Given the description of an element on the screen output the (x, y) to click on. 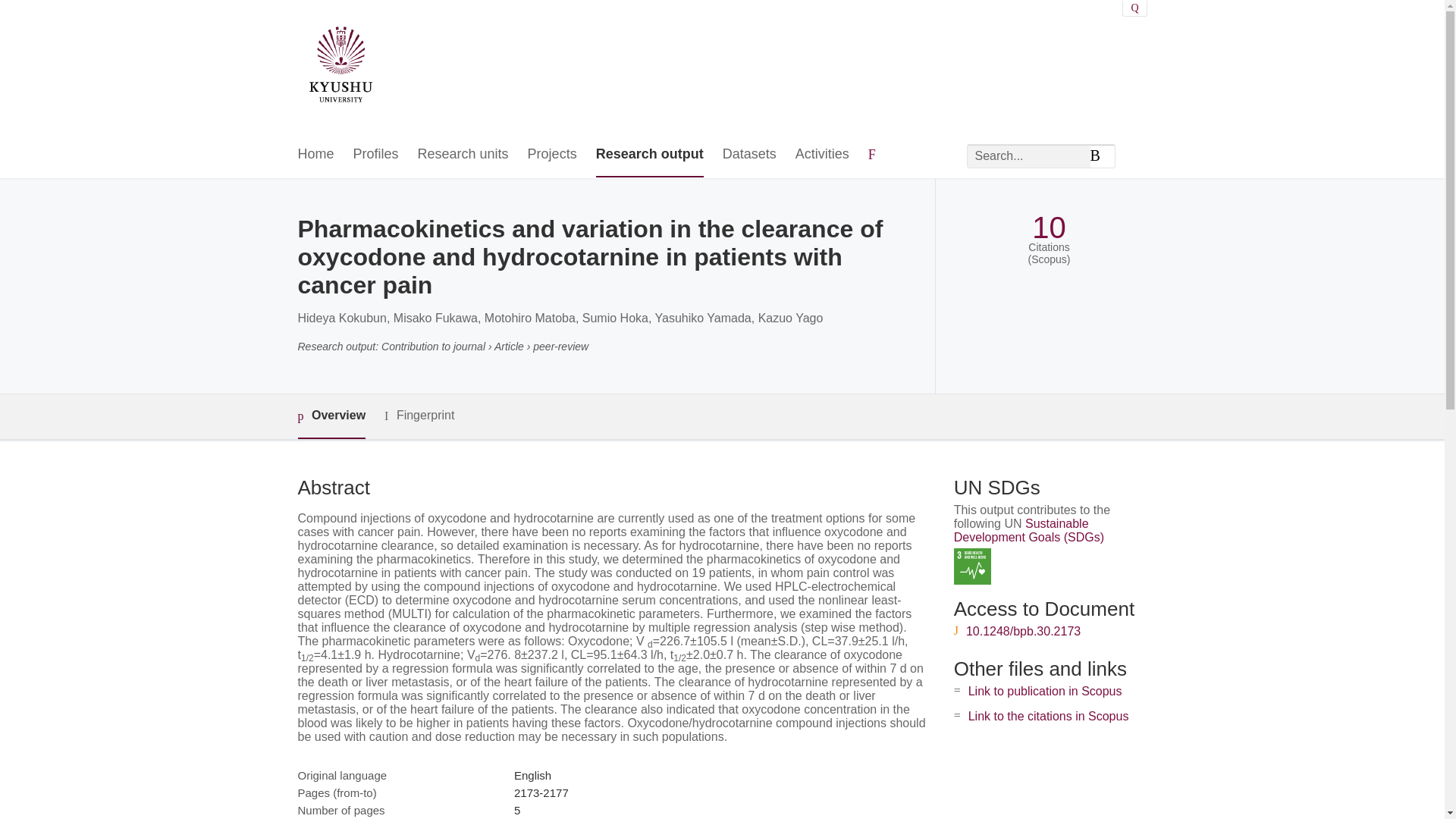
Activities (821, 154)
Link to the citations in Scopus (1048, 716)
Projects (551, 154)
Link to publication in Scopus (1045, 690)
SDG 3 - Good Health and Well-being (972, 566)
Research output (649, 154)
Overview (331, 415)
Fingerprint (419, 415)
Datasets (749, 154)
Research units (462, 154)
